Given the description of an element on the screen output the (x, y) to click on. 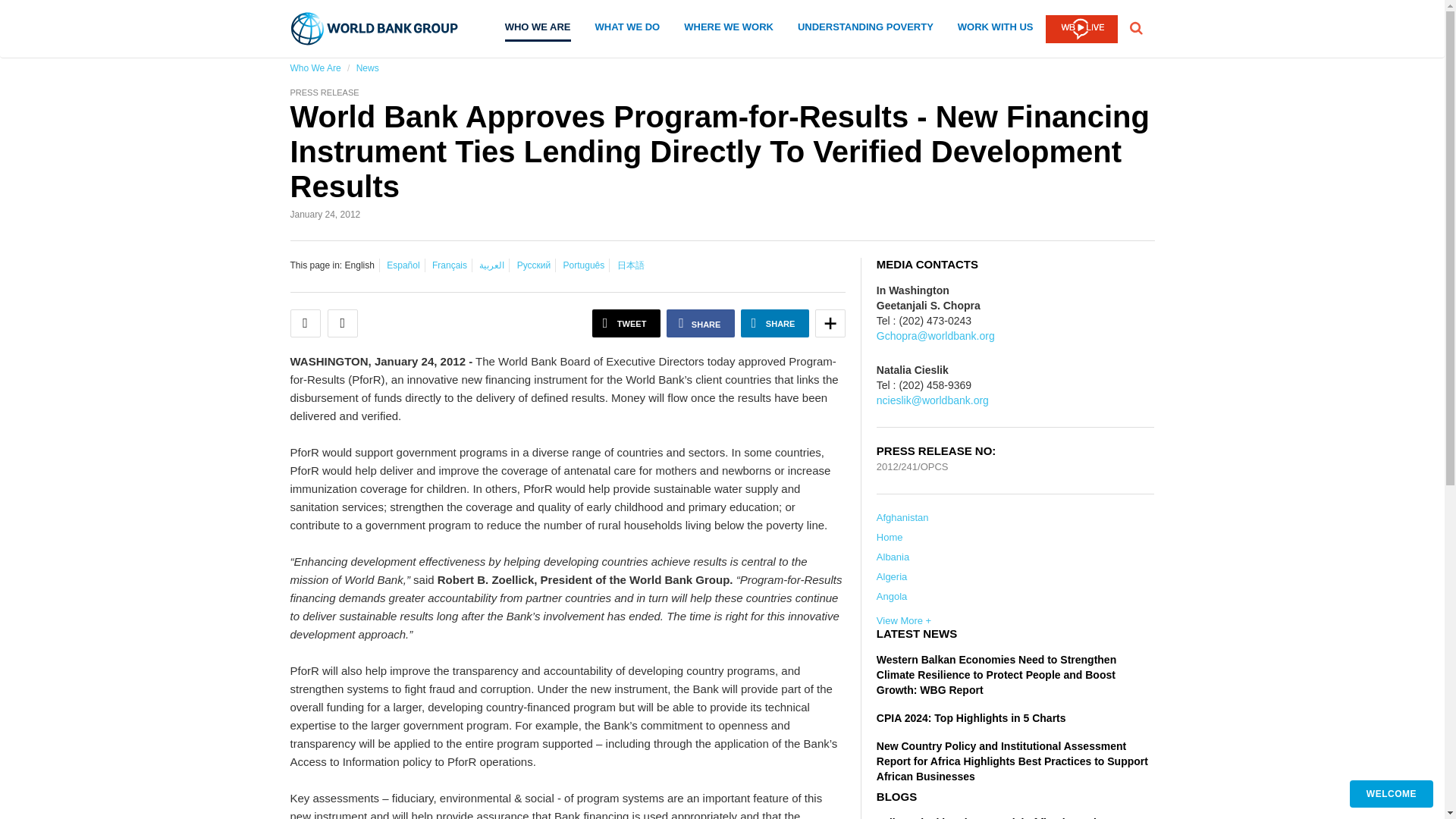
Tweet (626, 323)
Share (775, 323)
WHAT WE DO (628, 30)
WHO WE ARE (537, 31)
The World Bank Working for a World Free of Poverty (374, 28)
Print (342, 323)
Email (304, 323)
Facebook (700, 323)
Share (830, 323)
